Given the description of an element on the screen output the (x, y) to click on. 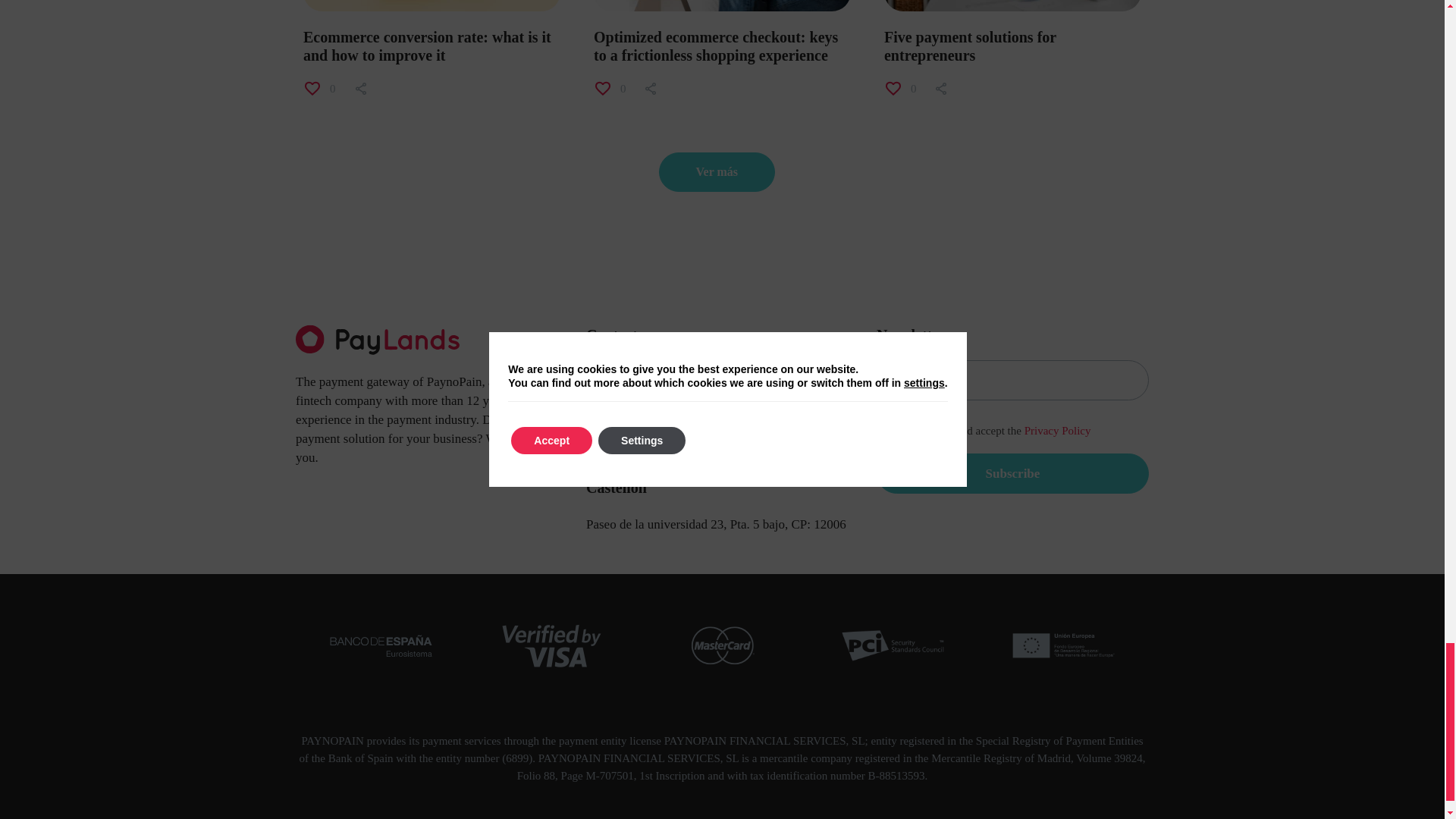
Subscribe (1012, 473)
1 (884, 431)
